Given the description of an element on the screen output the (x, y) to click on. 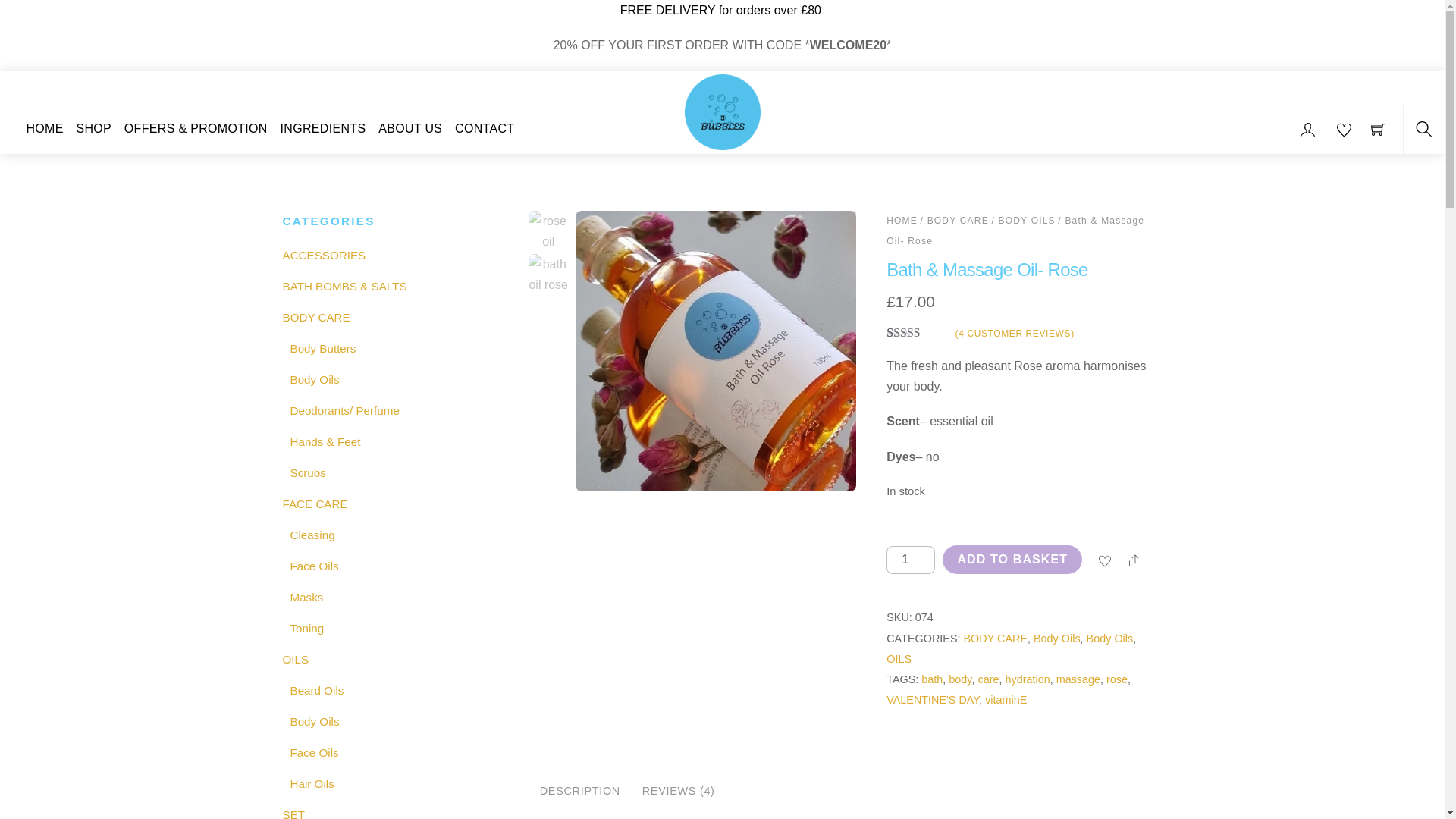
ADD TO BASKET (1011, 559)
rose bath oil (547, 273)
Three Bubbles (722, 107)
BODY OILS (1025, 220)
bath (931, 679)
1 (910, 560)
rose (1116, 679)
body (960, 679)
DESCRIPTION (579, 792)
massage (1078, 679)
ABOUT US (410, 128)
hydration (1026, 679)
SHOP (93, 128)
BODY CARE (994, 638)
CONTACT (484, 128)
